Given the description of an element on the screen output the (x, y) to click on. 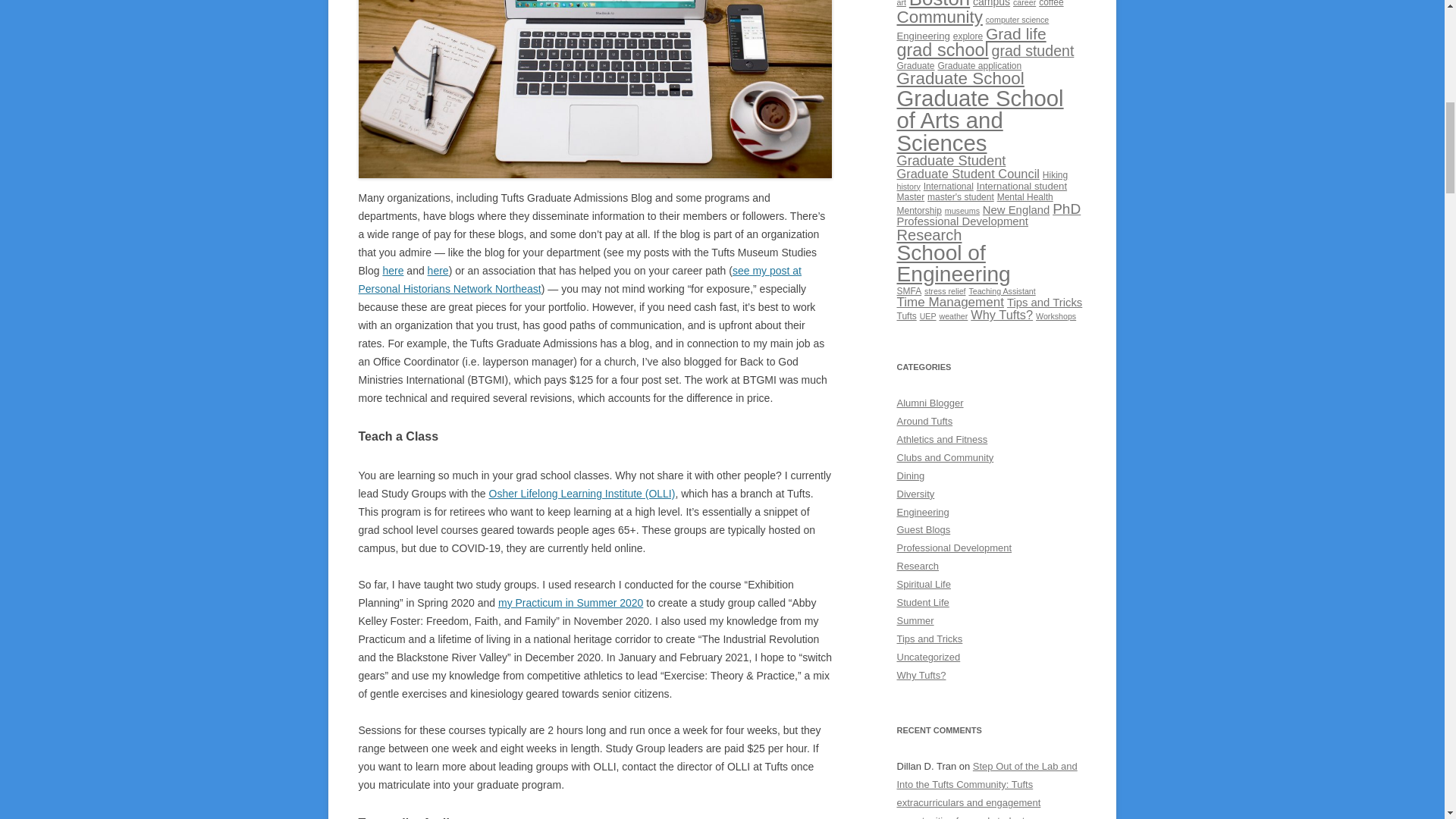
here (392, 270)
here (438, 270)
see my post at Personal Historians Network Northeast (580, 279)
my Practicum in Summer 2020 (570, 603)
